Given the description of an element on the screen output the (x, y) to click on. 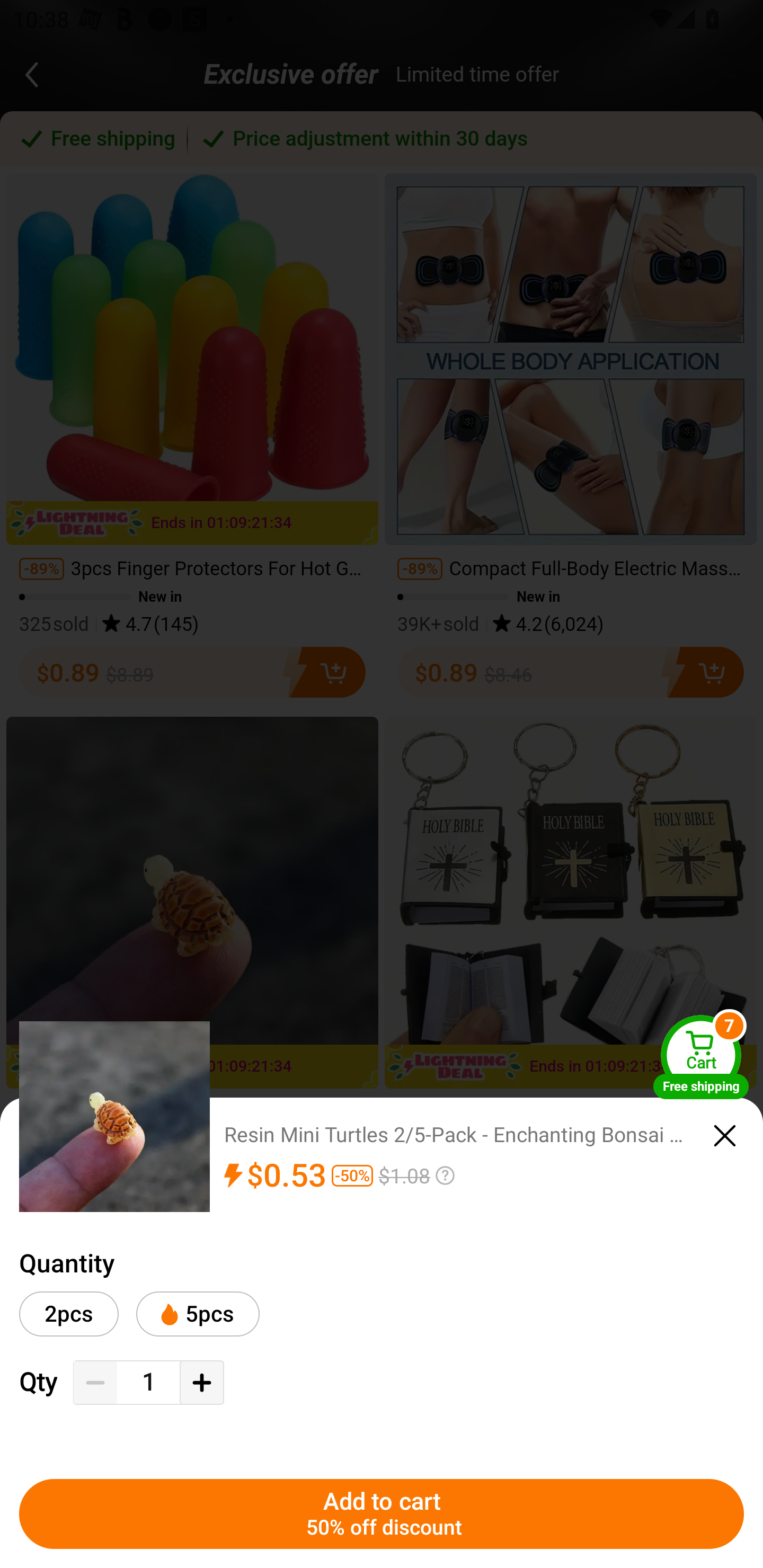
Cart Free shipping Cart (701, 1056)
close (724, 1135)
 2pcs (69, 1313)
 5pcs (197, 1313)
Decrease Quantity Button (95, 1382)
Add Quantity Button (201, 1382)
1 (148, 1382)
Add to cart  50% off discount (381, 1513)
